Given the description of an element on the screen output the (x, y) to click on. 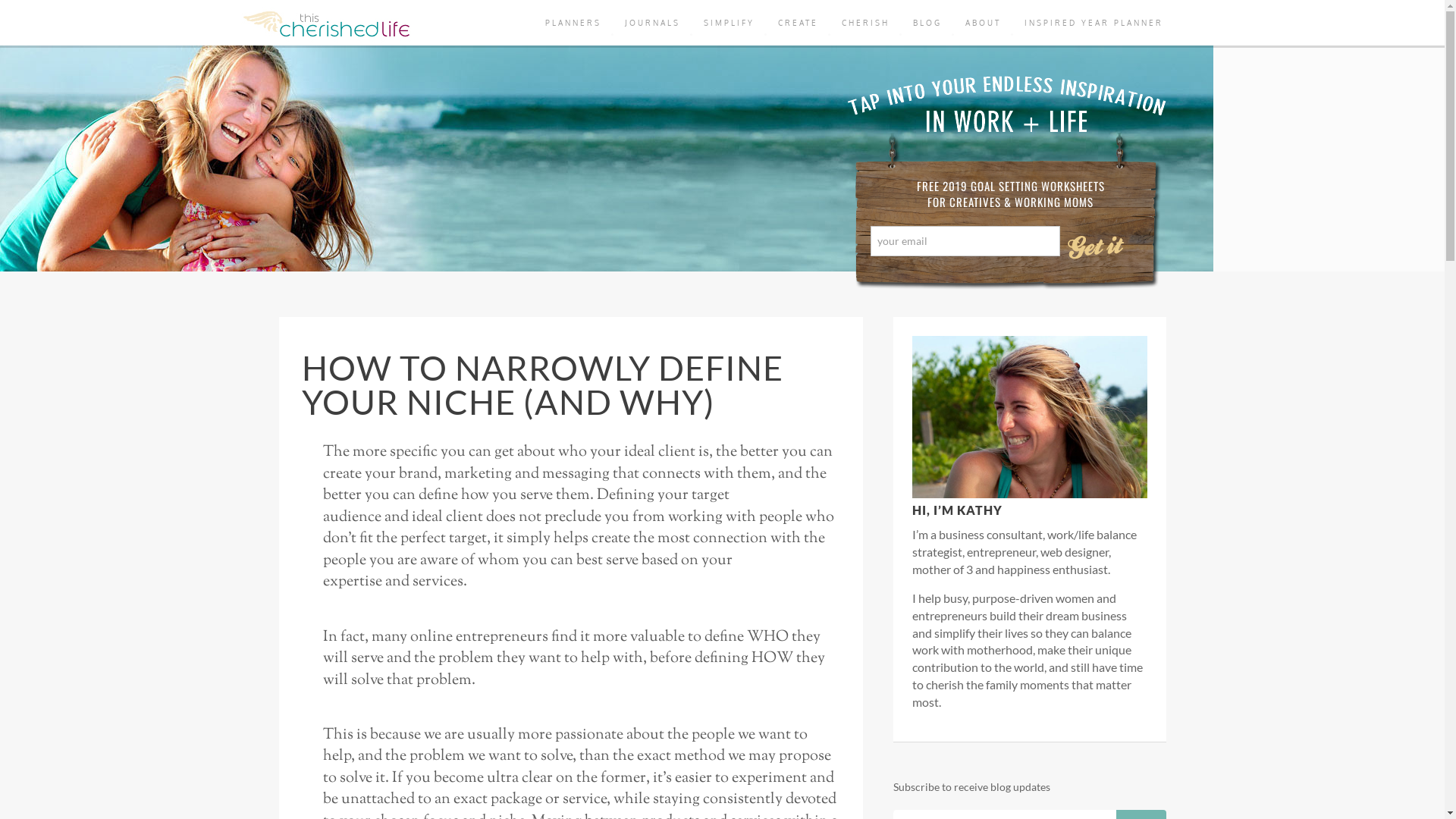
CHERISH Element type: text (865, 22)
Take Action Now! Element type: text (266, 15)
SIMPLIFY Element type: text (728, 22)
CREATE Element type: text (798, 22)
JOURNALS Element type: text (652, 22)
ABOUT Element type: text (982, 22)
INSPIRED YEAR PLANNER Element type: text (1092, 22)
PLANNERS Element type: text (572, 22)
BLOG Element type: text (927, 22)
